Given the description of an element on the screen output the (x, y) to click on. 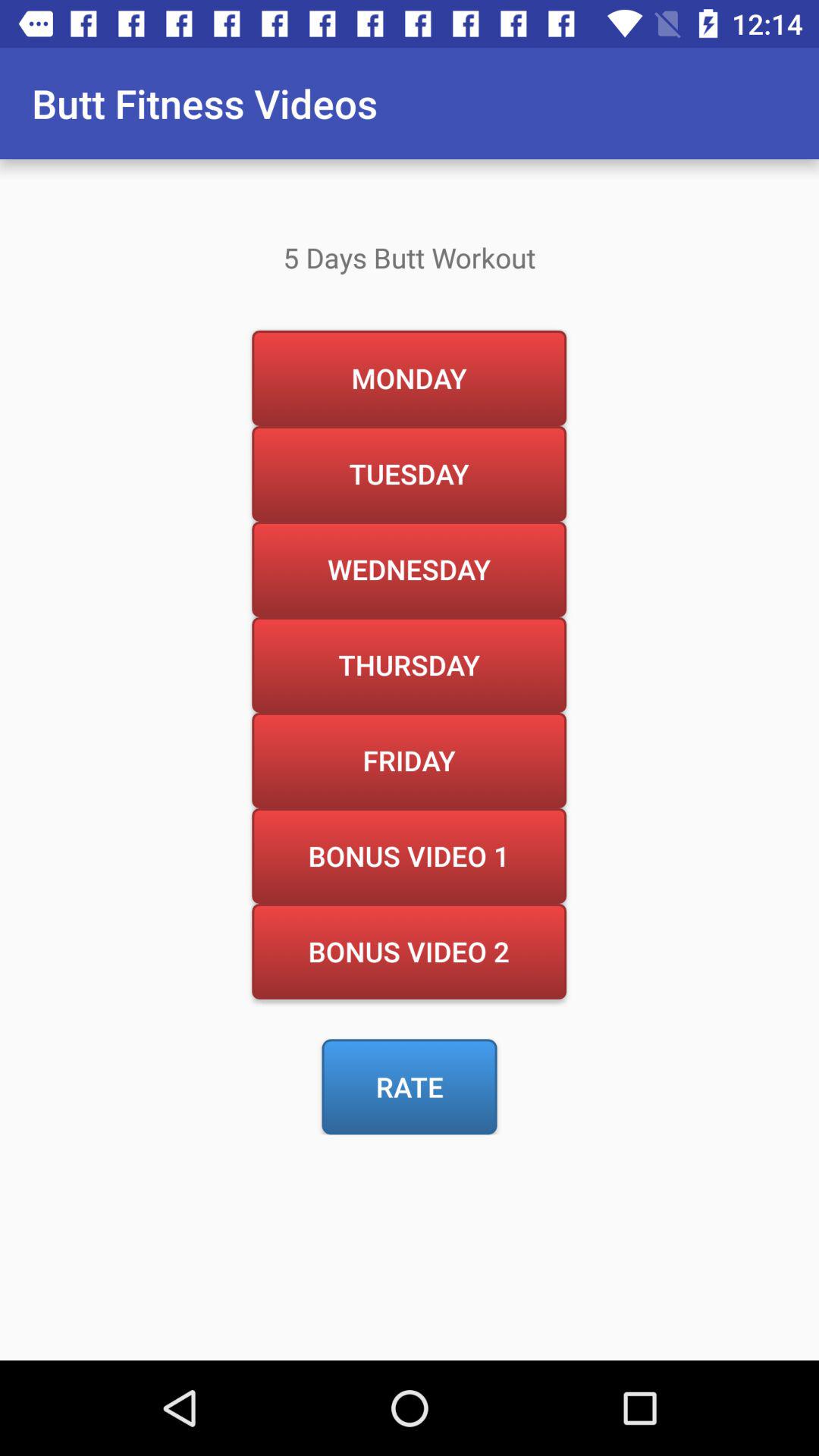
swipe to tuesday (408, 473)
